Given the description of an element on the screen output the (x, y) to click on. 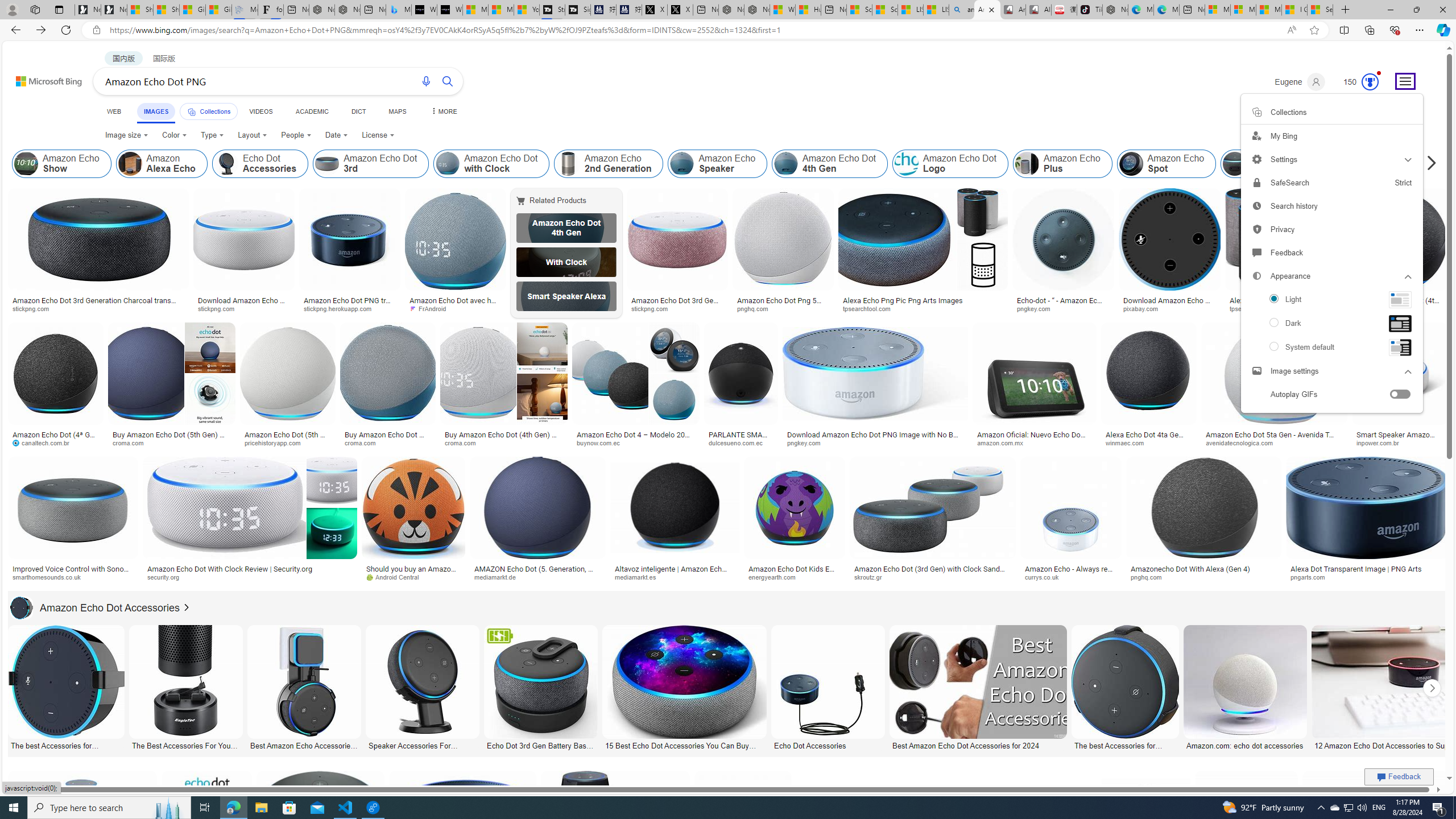
dulcesueno.com.ec (741, 442)
Amazon Echo Dot With Clock Review | Security.org (249, 568)
Amazon Echo Dot With Clock Review | Security.org (230, 568)
stickpng.herokuapp.com (342, 308)
skroutz.gr (871, 576)
